Given the description of an element on the screen output the (x, y) to click on. 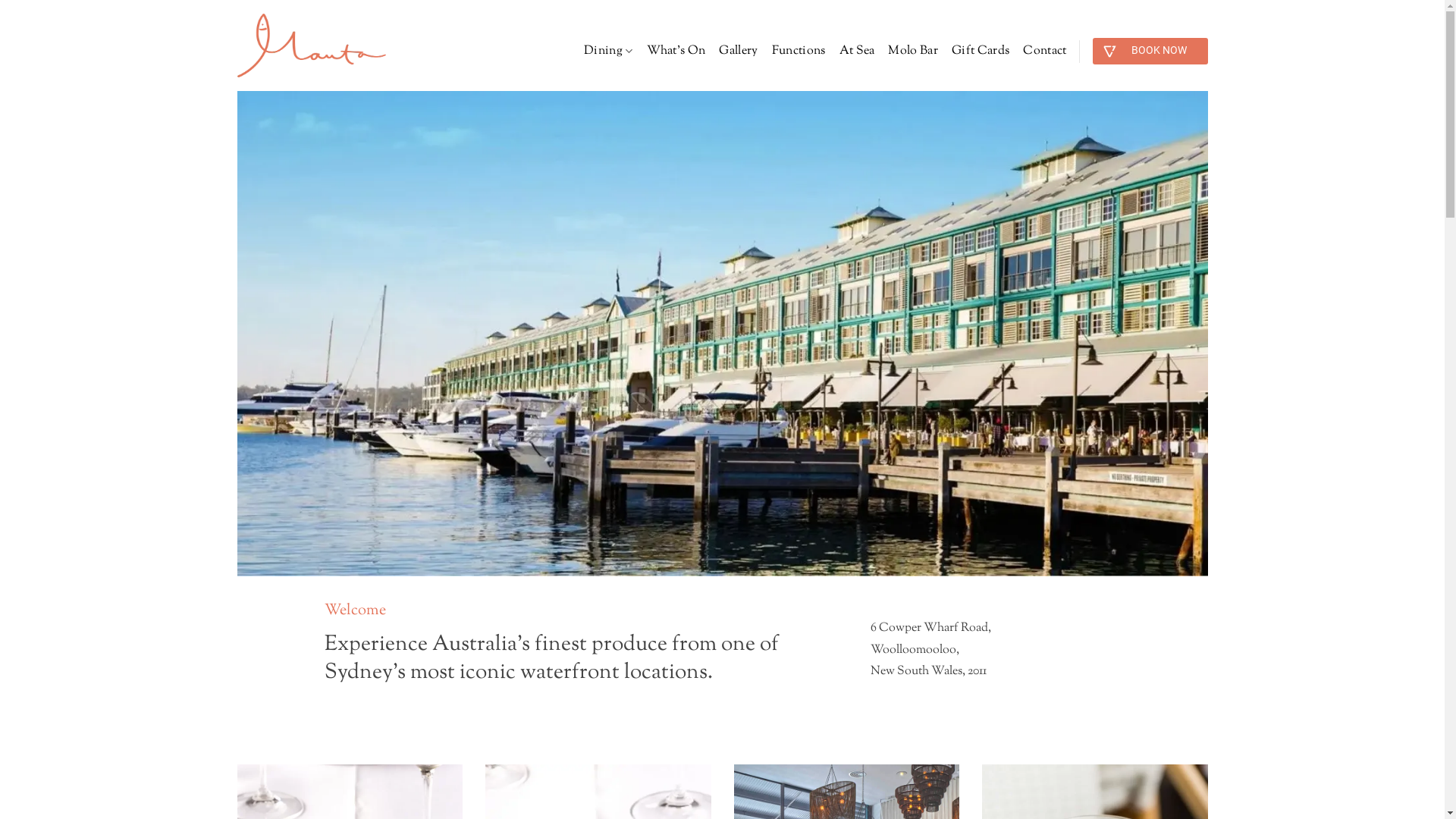
Gallery Element type: text (737, 51)
Dining Element type: text (607, 50)
Molo Bar Element type: text (913, 51)
Contact Element type: text (1044, 51)
Gift Cards Element type: text (980, 51)
Skip to content Element type: text (0, 0)
Functions Element type: text (798, 51)
At Sea Element type: text (857, 51)
